Given the description of an element on the screen output the (x, y) to click on. 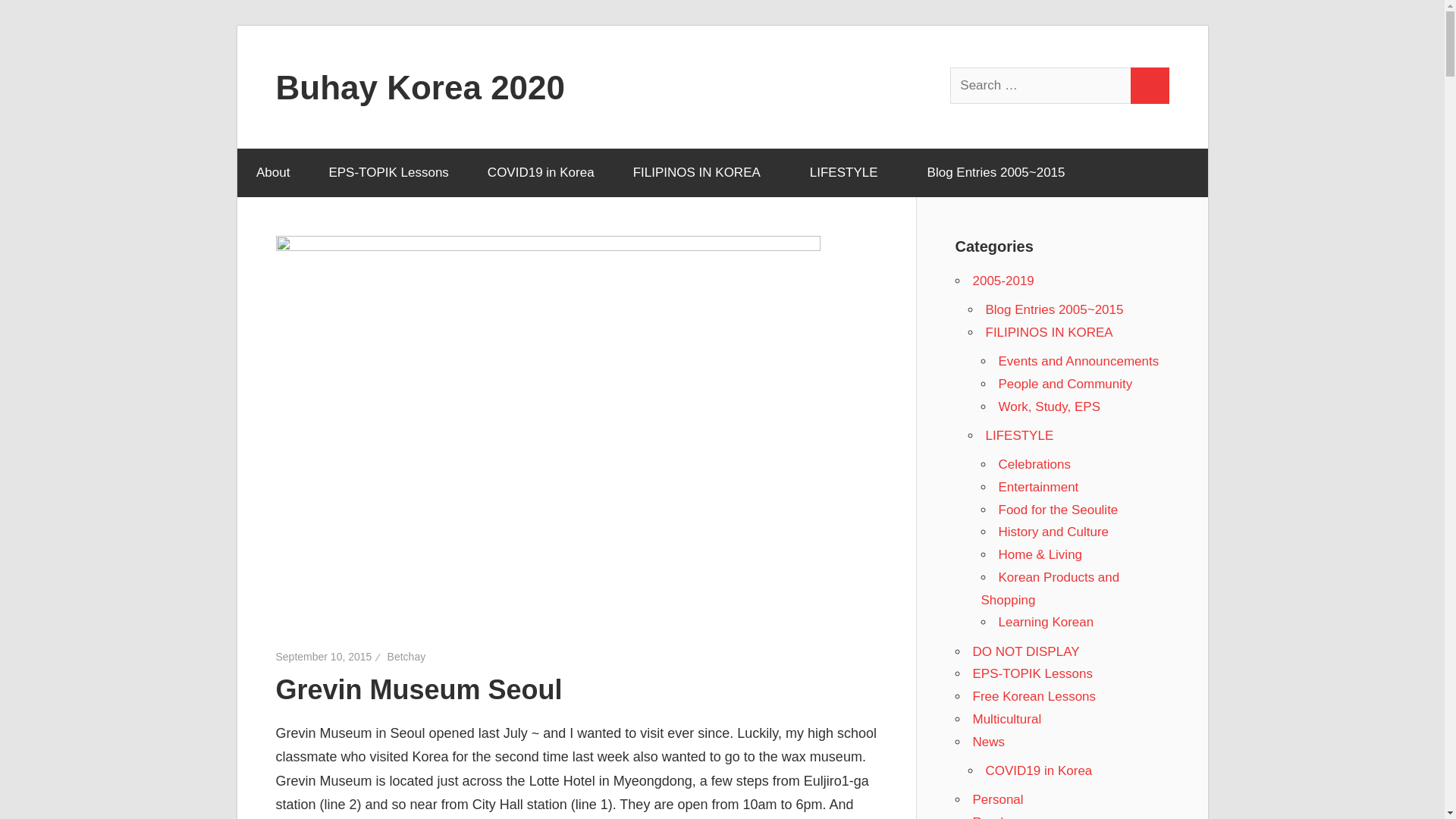
September 10, 2015 (324, 656)
LIFESTYLE (848, 172)
Betchay (406, 656)
1:43 pm (324, 656)
EPS-TOPIK Lessons (387, 172)
FILIPINOS IN KOREA (701, 172)
COVID19 in Korea (539, 172)
Search for: (1041, 85)
About (271, 172)
